Given the description of an element on the screen output the (x, y) to click on. 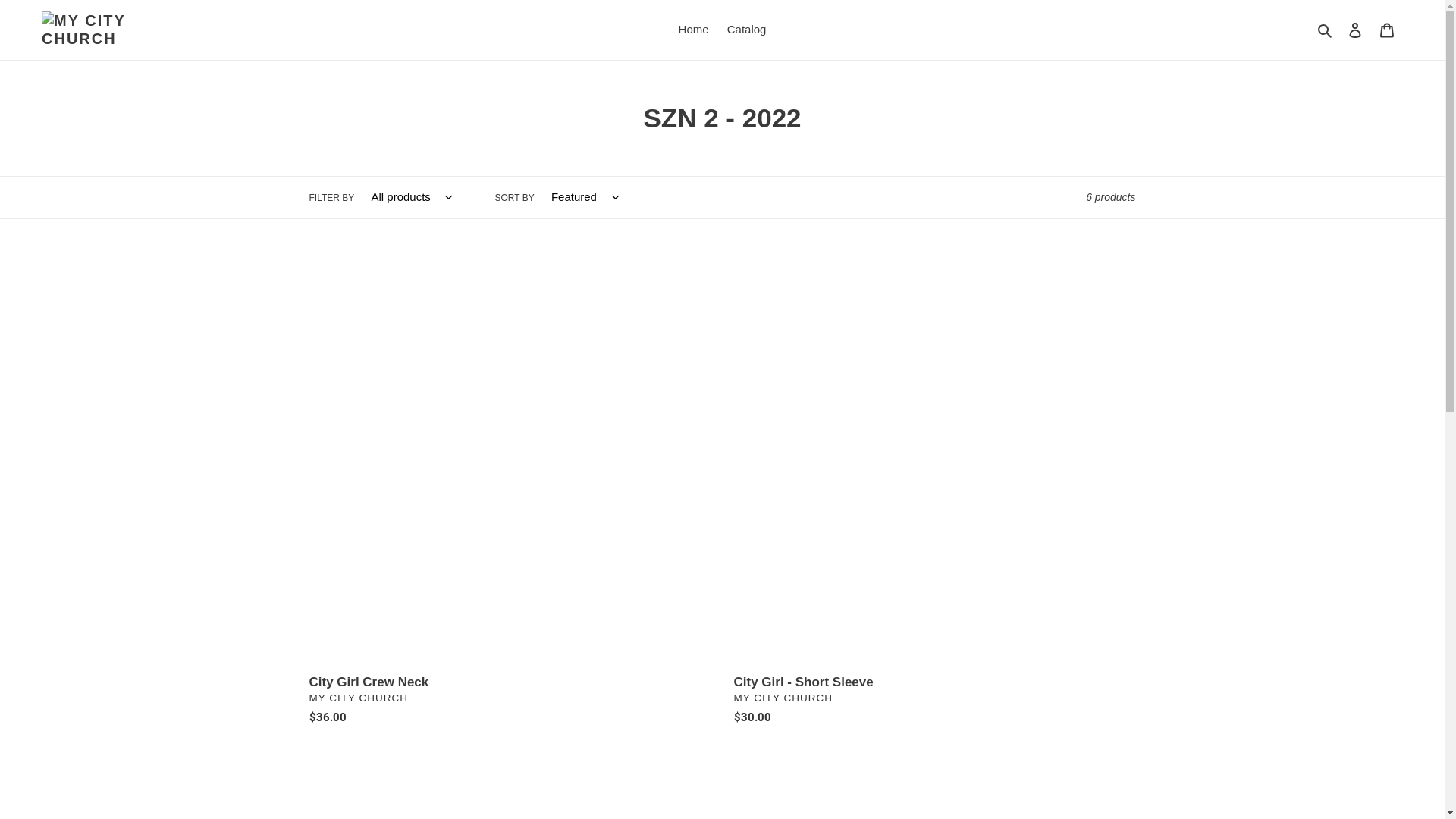
Search Element type: text (1325, 29)
City Girl - Short Sleeve Element type: text (934, 496)
Log in Element type: text (1355, 29)
Cart Element type: text (1386, 29)
Home Element type: text (693, 29)
Catalog Element type: text (746, 29)
City Girl Crew Neck Element type: text (510, 496)
